Given the description of an element on the screen output the (x, y) to click on. 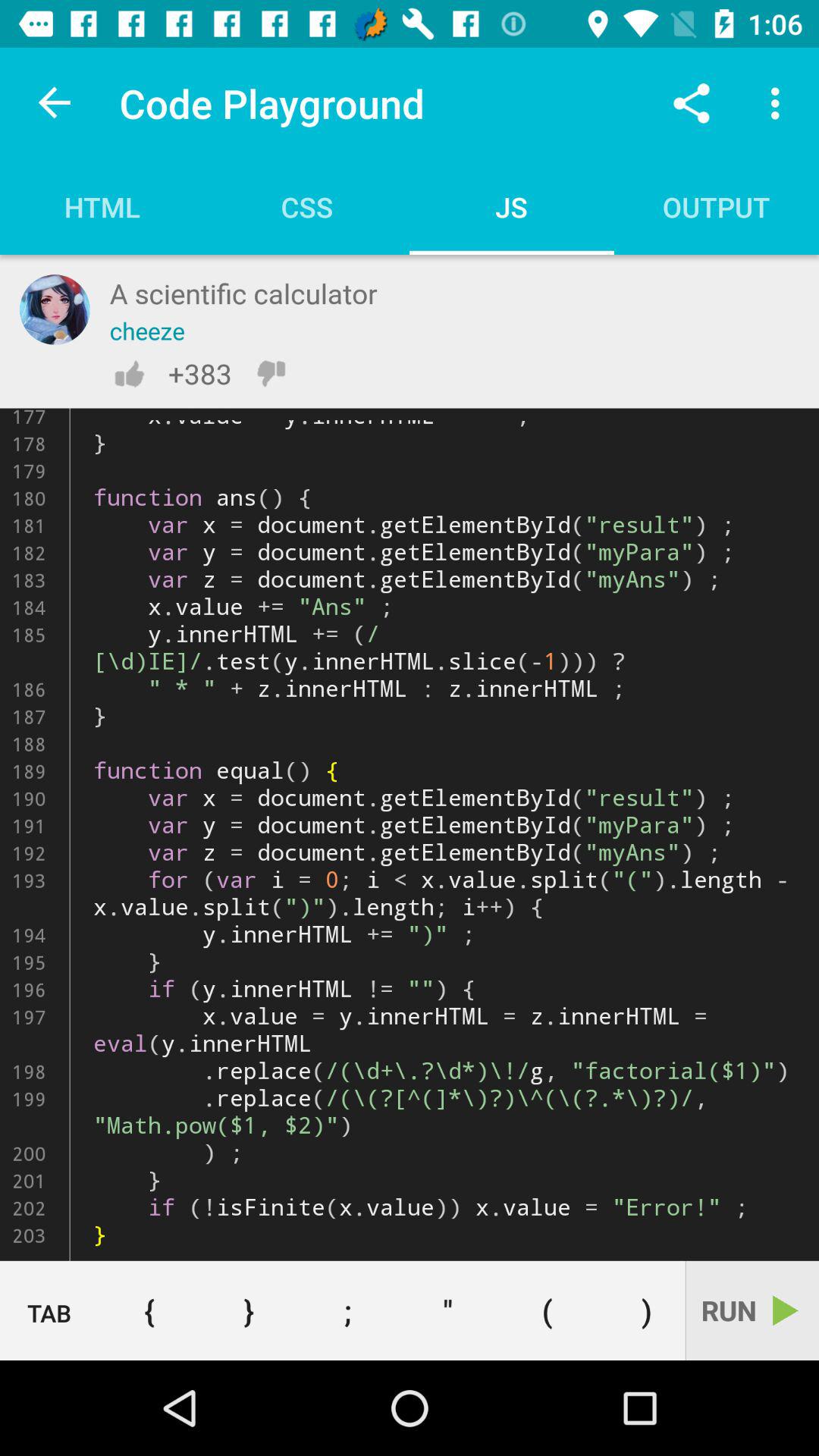
like the coment (129, 373)
